Given the description of an element on the screen output the (x, y) to click on. 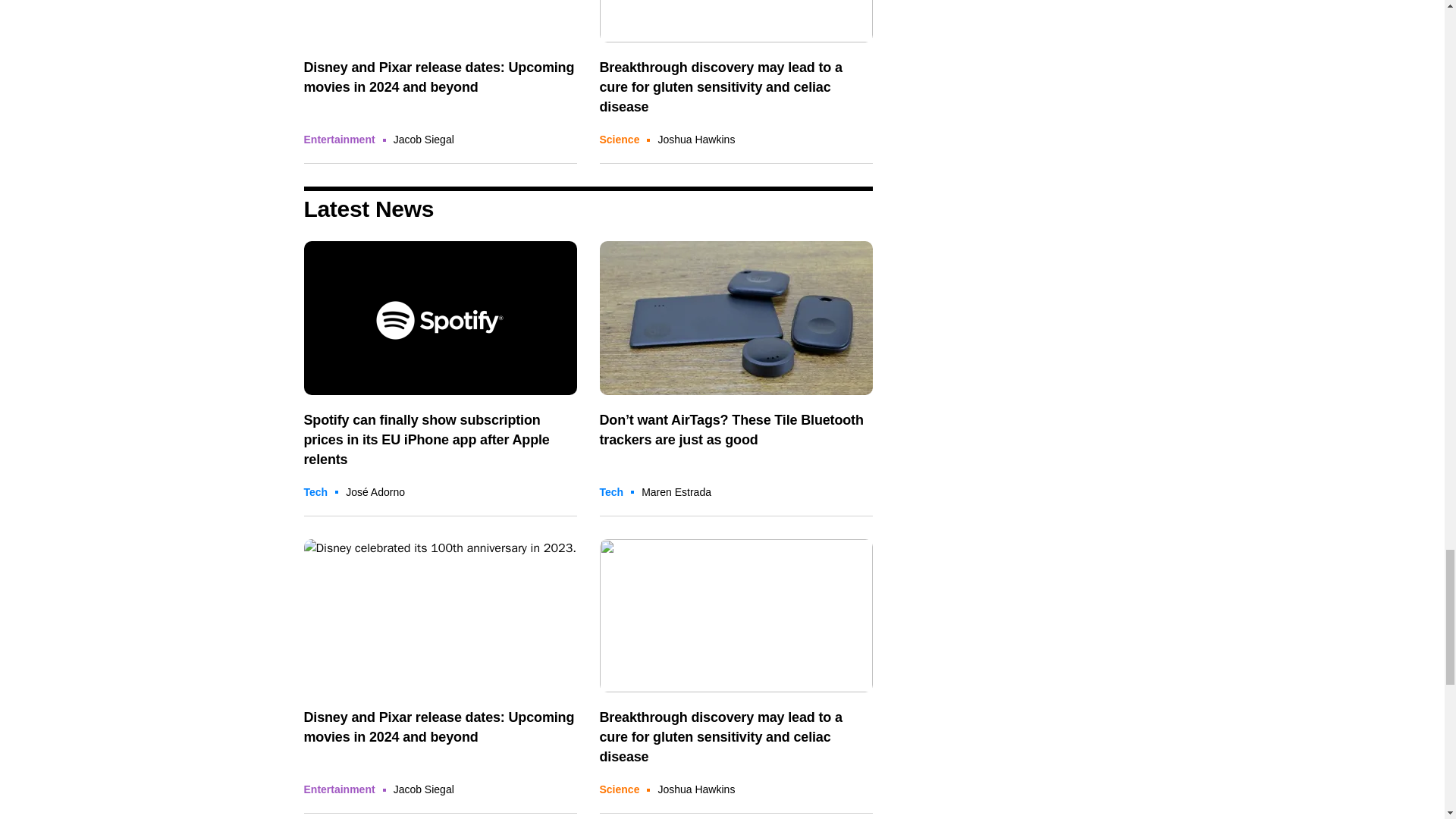
AirTag vs Tile (735, 317)
Posts by Jacob Siegal (423, 139)
Posts by Maren Estrada (676, 491)
Disney Pixar (439, 615)
Disney Pixar (439, 21)
Posts by Joshua Hawkins (696, 139)
Posts by Jacob Siegal (423, 788)
celiac cure (735, 615)
celiac cure (735, 21)
